Given the description of an element on the screen output the (x, y) to click on. 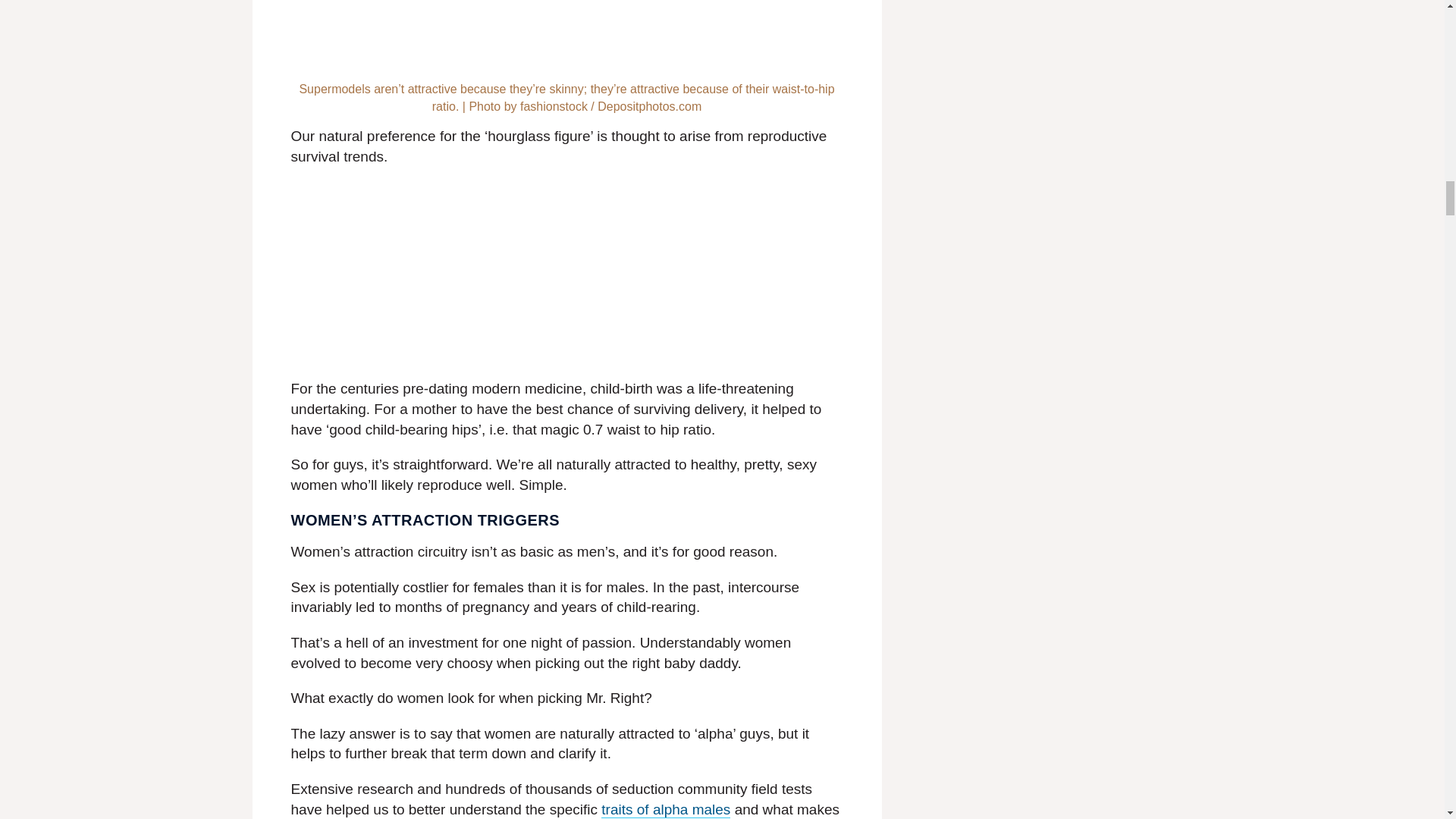
Alessandra Ambrosio (567, 36)
